Given the description of an element on the screen output the (x, y) to click on. 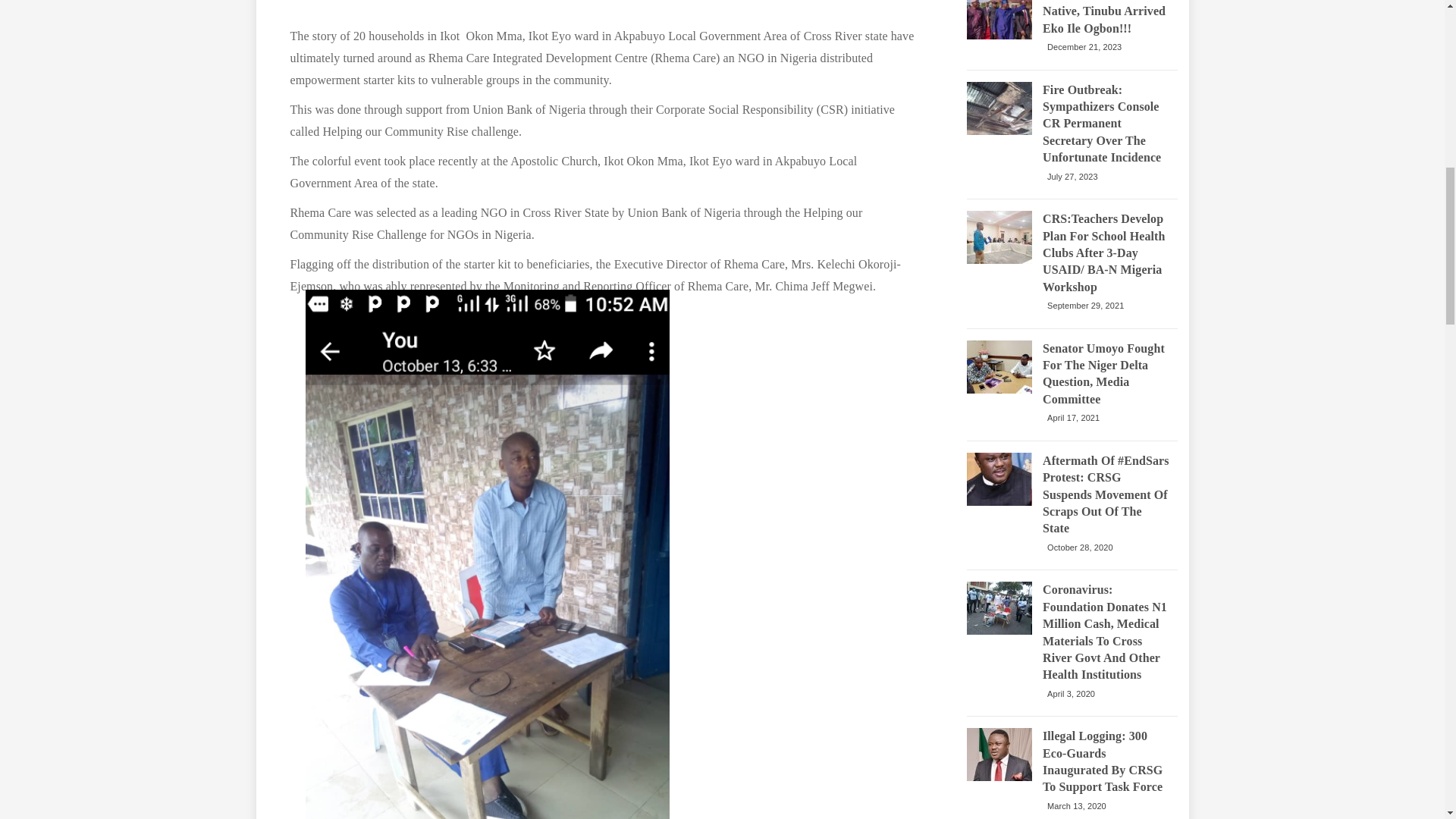
The Return Of The Native, Tinubu Arrived Eko Ile Ogbon!!! (1106, 18)
The Return Of The Native, Tinubu Arrived Eko Ile Ogbon!!! (999, 19)
